Given the description of an element on the screen output the (x, y) to click on. 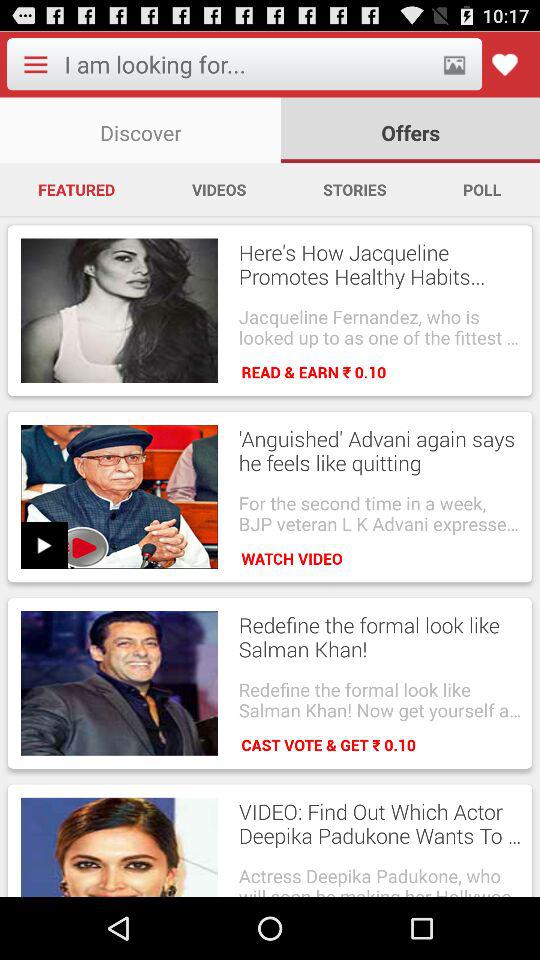
go to favorites (504, 64)
